Given the description of an element on the screen output the (x, y) to click on. 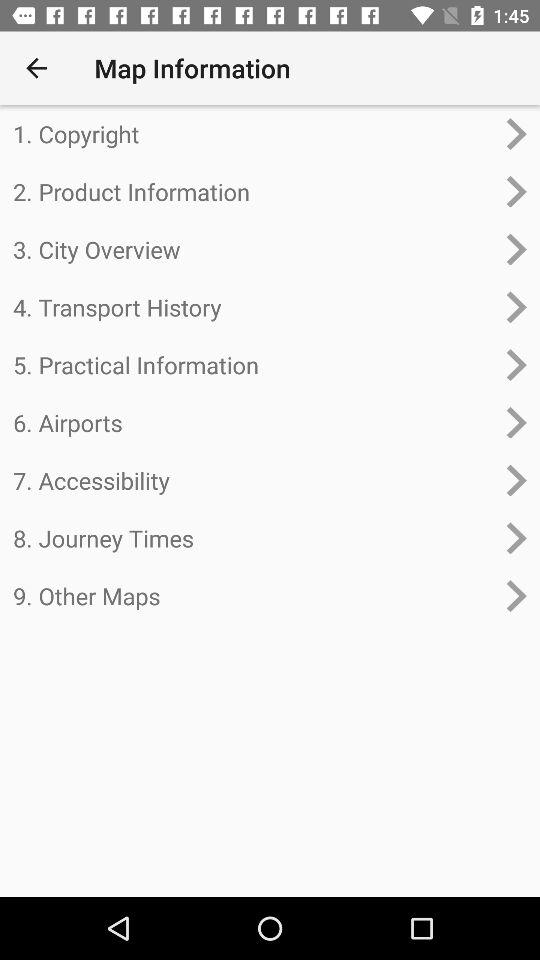
select item below the 6. airports (253, 480)
